Given the description of an element on the screen output the (x, y) to click on. 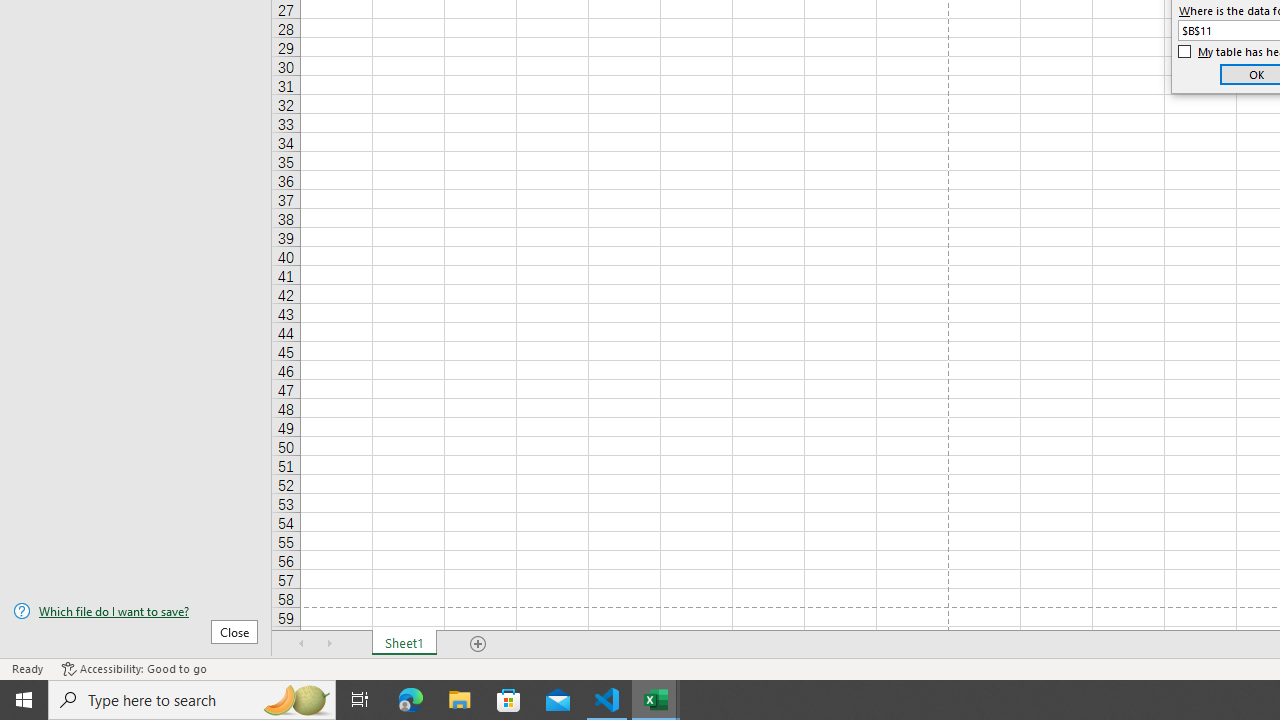
Which file do I want to save? (136, 611)
